Given the description of an element on the screen output the (x, y) to click on. 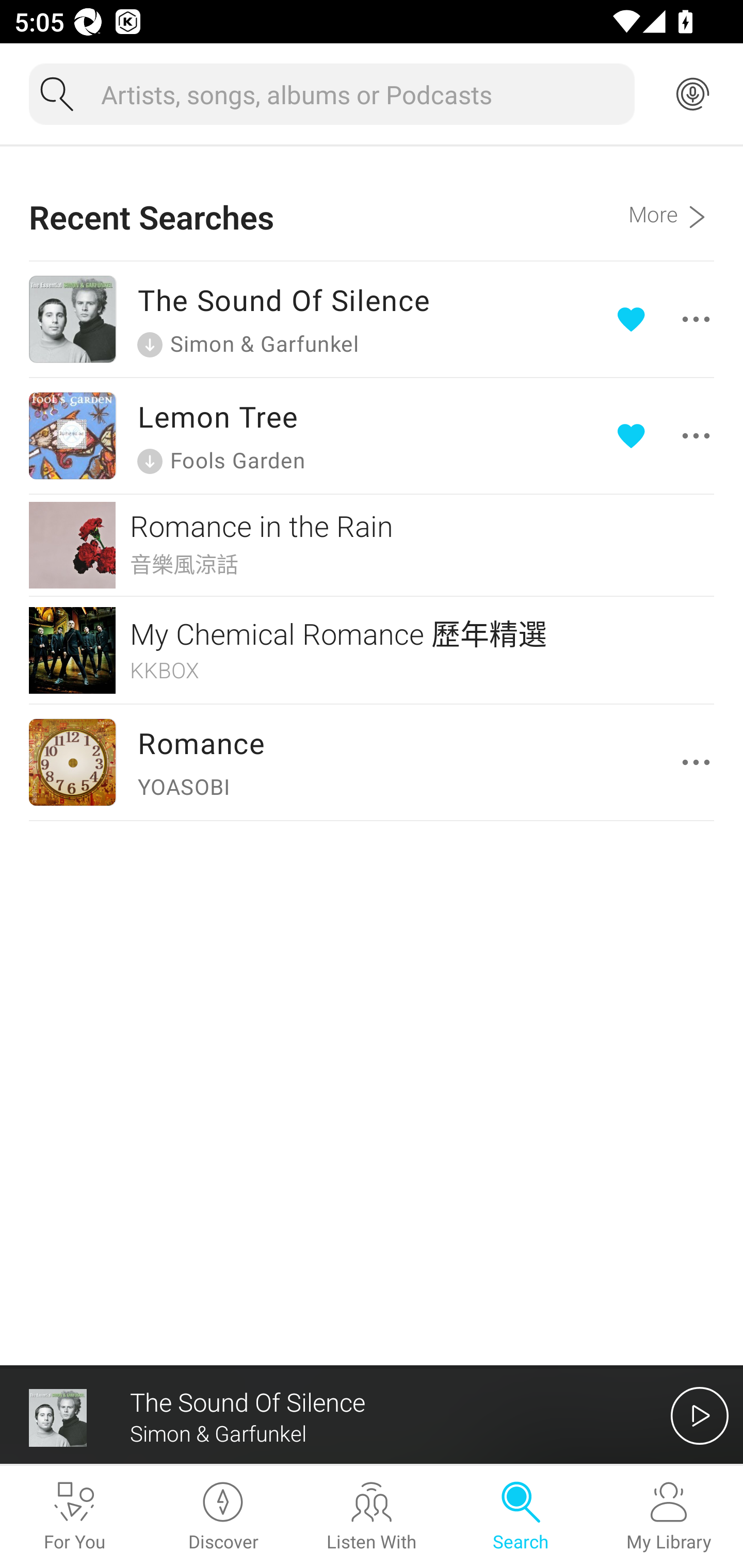
Music recognition (692, 93)
Artists, songs, albums or Podcasts (360, 93)
More Recent Searches More (671, 202)
The Sound Of Silence 已下載 Simon & Garfunkel 更多操作選項 (371, 318)
更多操作選項 (667, 318)
Lemon Tree 已下載 Fools Garden 更多操作選項 (371, 435)
更多操作選項 (667, 435)
Romance in the Rain 音樂風涼話 (371, 544)
My Chemical Romance 歷年精選 KKBOX (371, 650)
Romance YOASOBI 更多操作選項 (371, 762)
更多操作選項 (699, 761)
開始播放 (699, 1415)
For You (74, 1517)
Discover (222, 1517)
Listen With (371, 1517)
Search (519, 1517)
My Library (668, 1517)
